Given the description of an element on the screen output the (x, y) to click on. 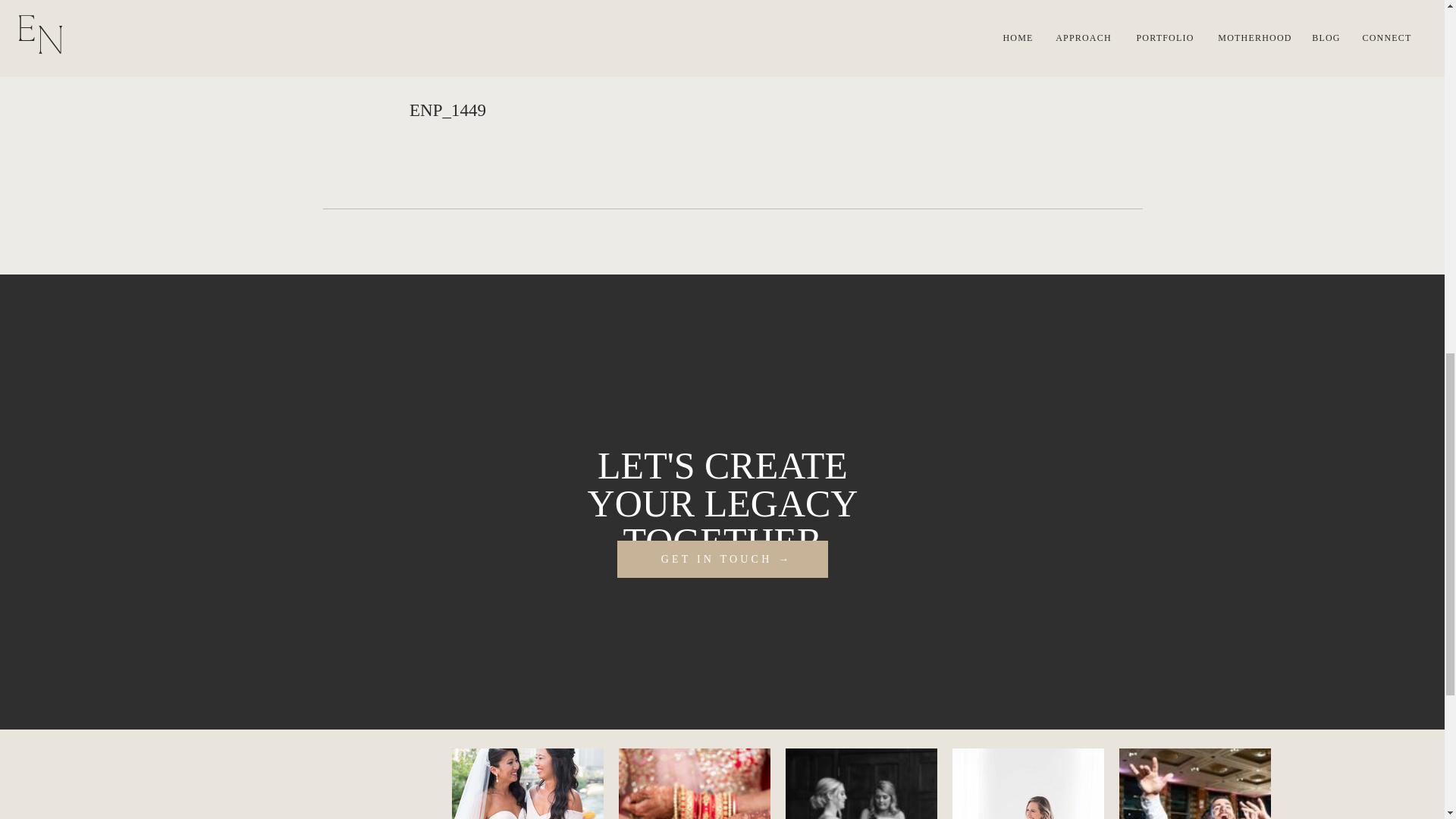
LET'S CREATE YOUR LEGACY TOGETHER (721, 488)
Elizabeth-Nord-Photography-Nashville-Photographer-40 (1027, 783)
ENP-1408 (694, 783)
Hall-Humphrey-Wedding-133 (861, 783)
